Given the description of an element on the screen output the (x, y) to click on. 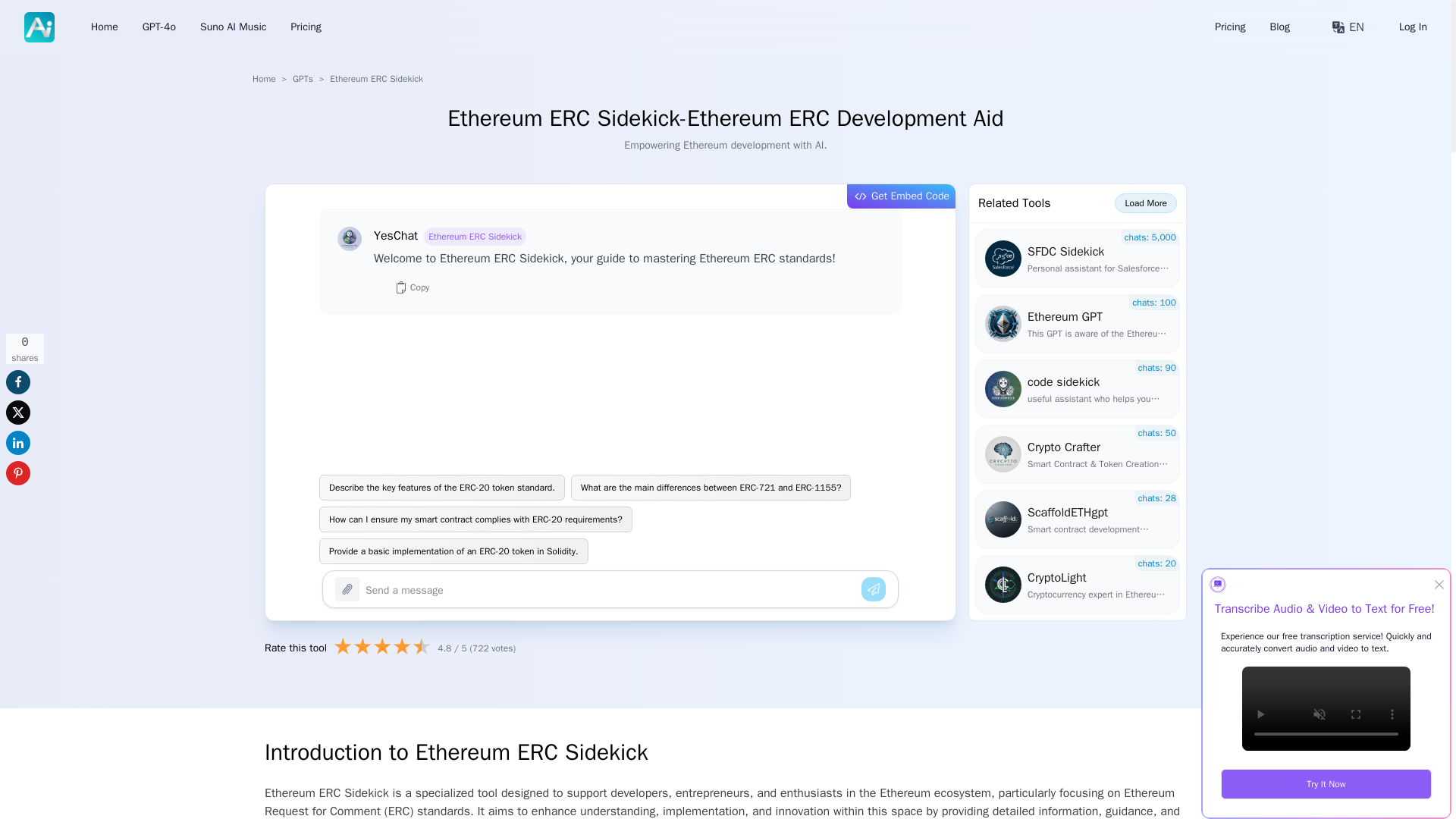
Suno AI Music (233, 27)
Pricing (306, 27)
Copy (411, 287)
GPT-4o (159, 27)
GPTs (302, 78)
Load More (1145, 202)
Pricing (1229, 27)
Home (103, 27)
Log In (1412, 27)
Home (263, 78)
Blog (1279, 27)
